Given the description of an element on the screen output the (x, y) to click on. 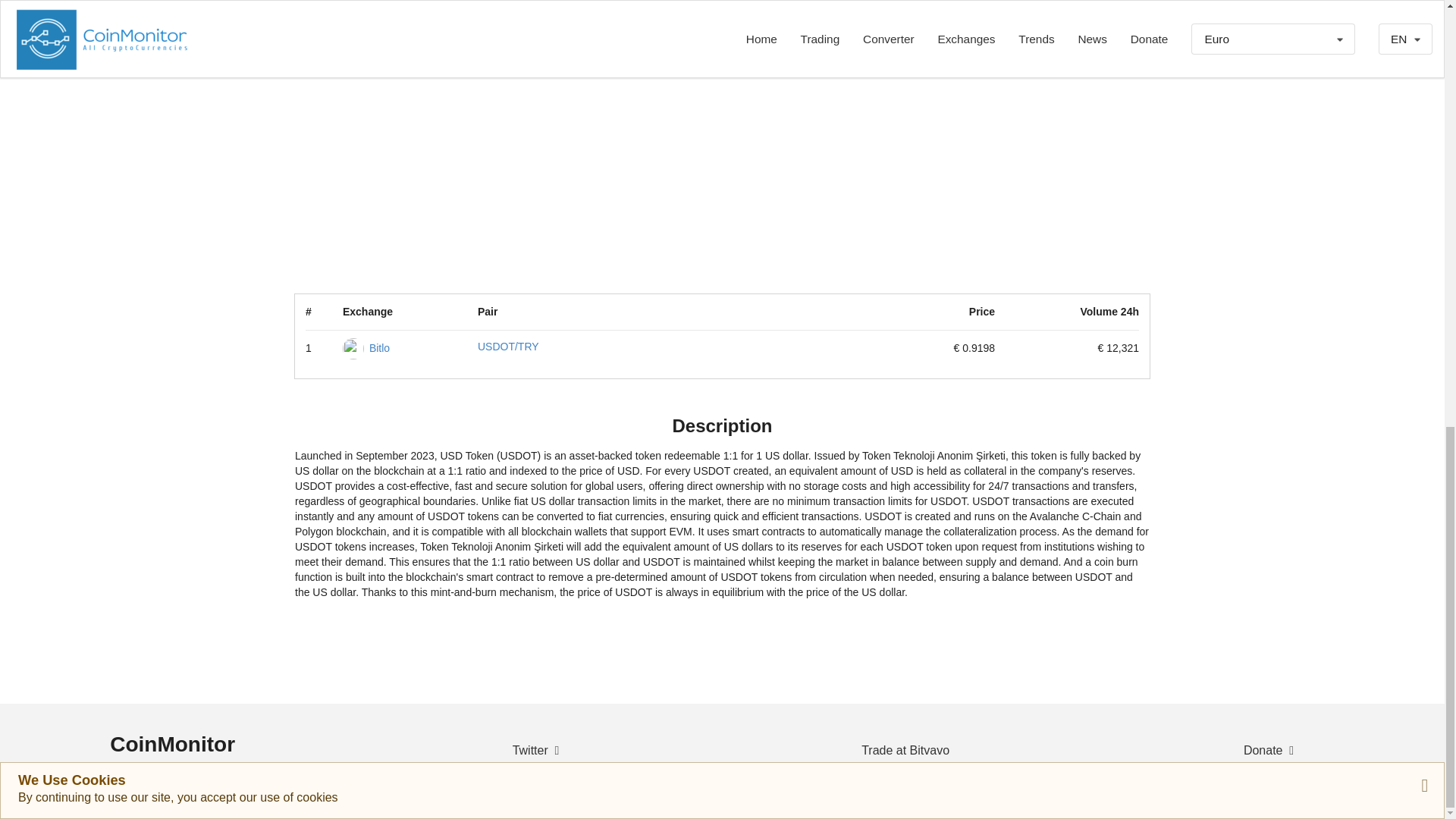
CoinGecko (832, 808)
CryptoCompare (761, 808)
Trade at Bitvavo (904, 750)
Bitlo (379, 347)
Twitter  (538, 750)
